Given the description of an element on the screen output the (x, y) to click on. 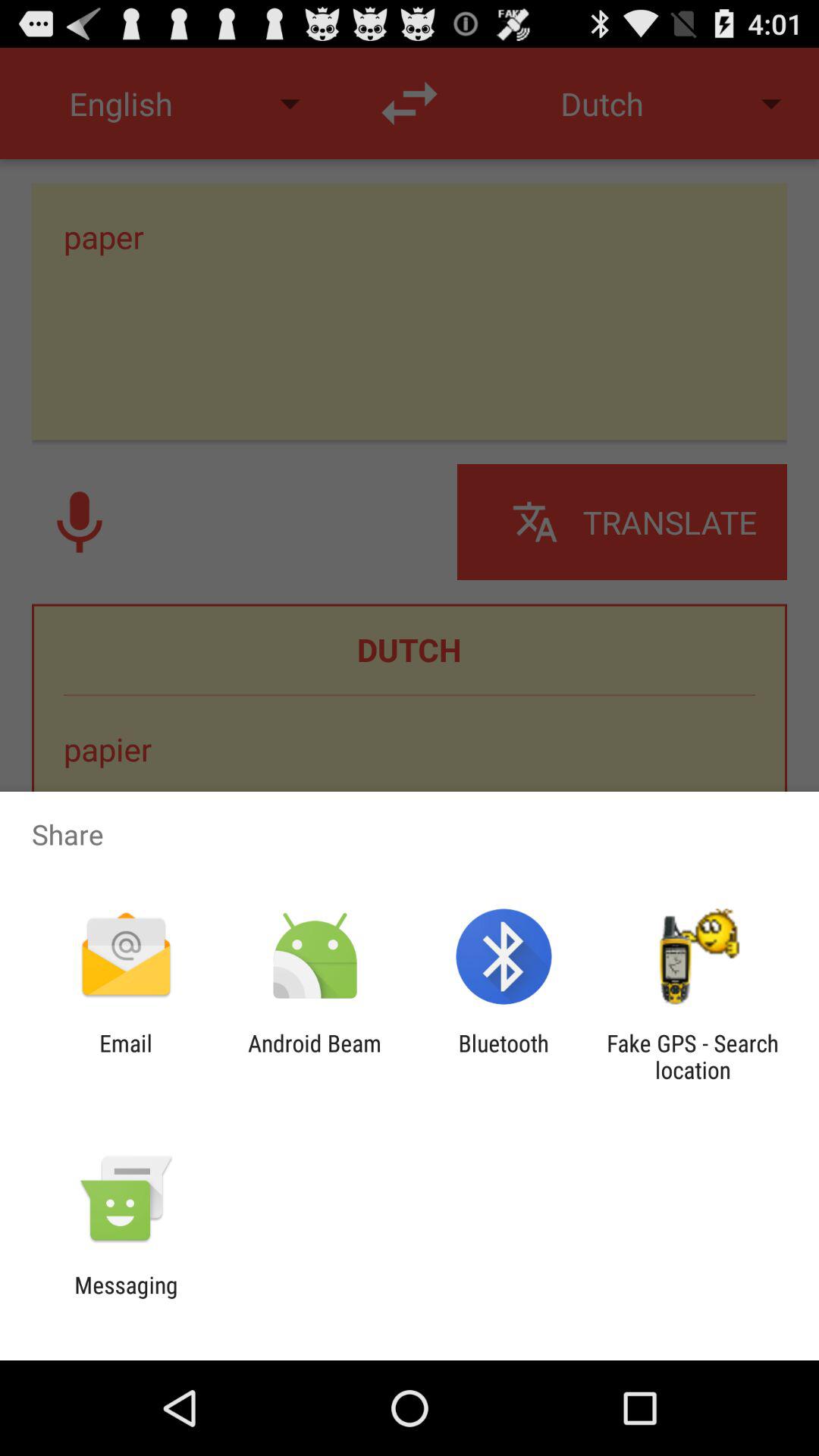
scroll to messaging app (126, 1298)
